Given the description of an element on the screen output the (x, y) to click on. 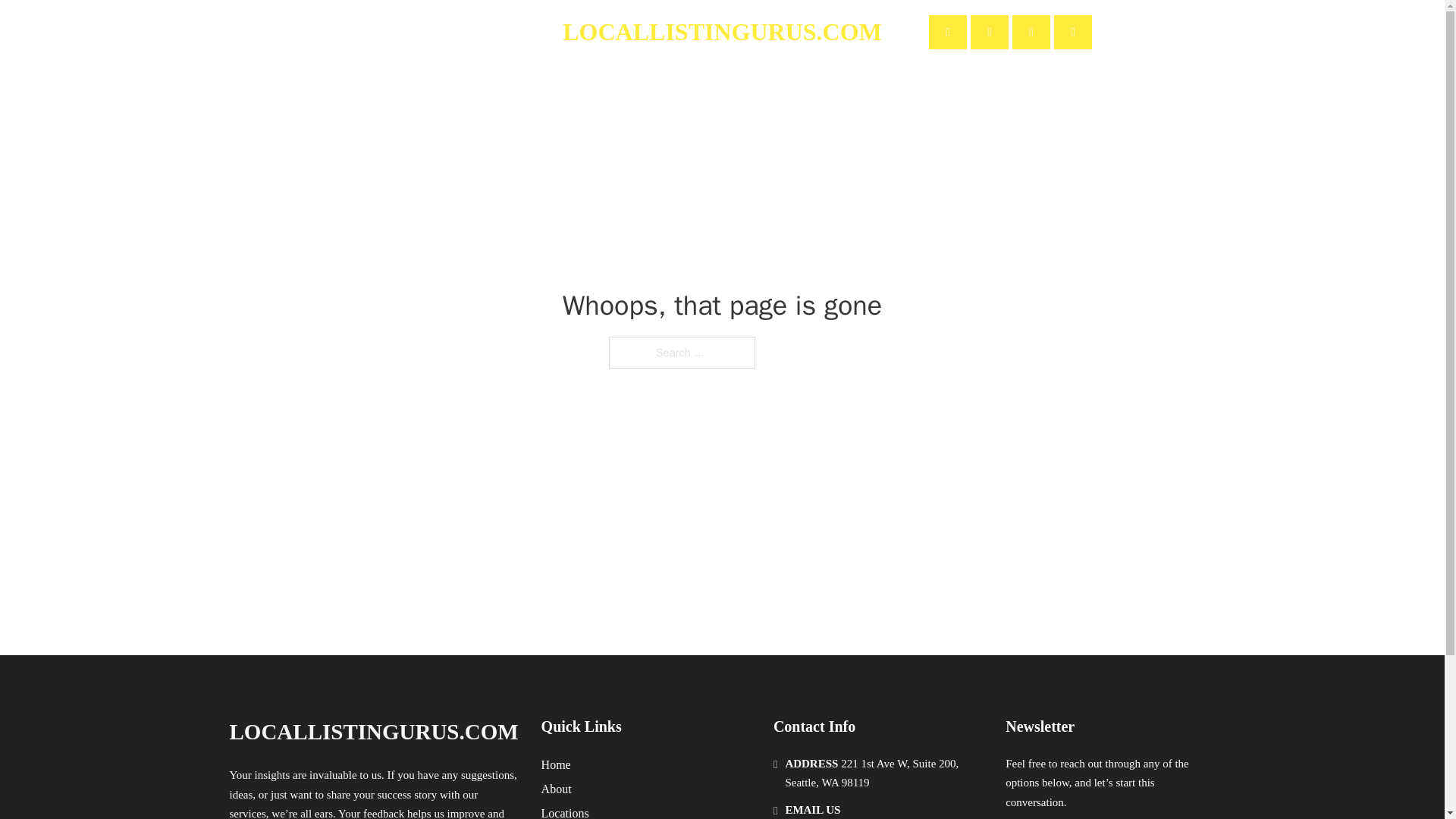
About (428, 32)
Contact (490, 32)
LOCALLISTINGURUS.COM (722, 31)
Home (555, 764)
Locations (565, 811)
LOCALLISTINGURUS.COM (373, 732)
About (556, 788)
Home (370, 32)
